Given the description of an element on the screen output the (x, y) to click on. 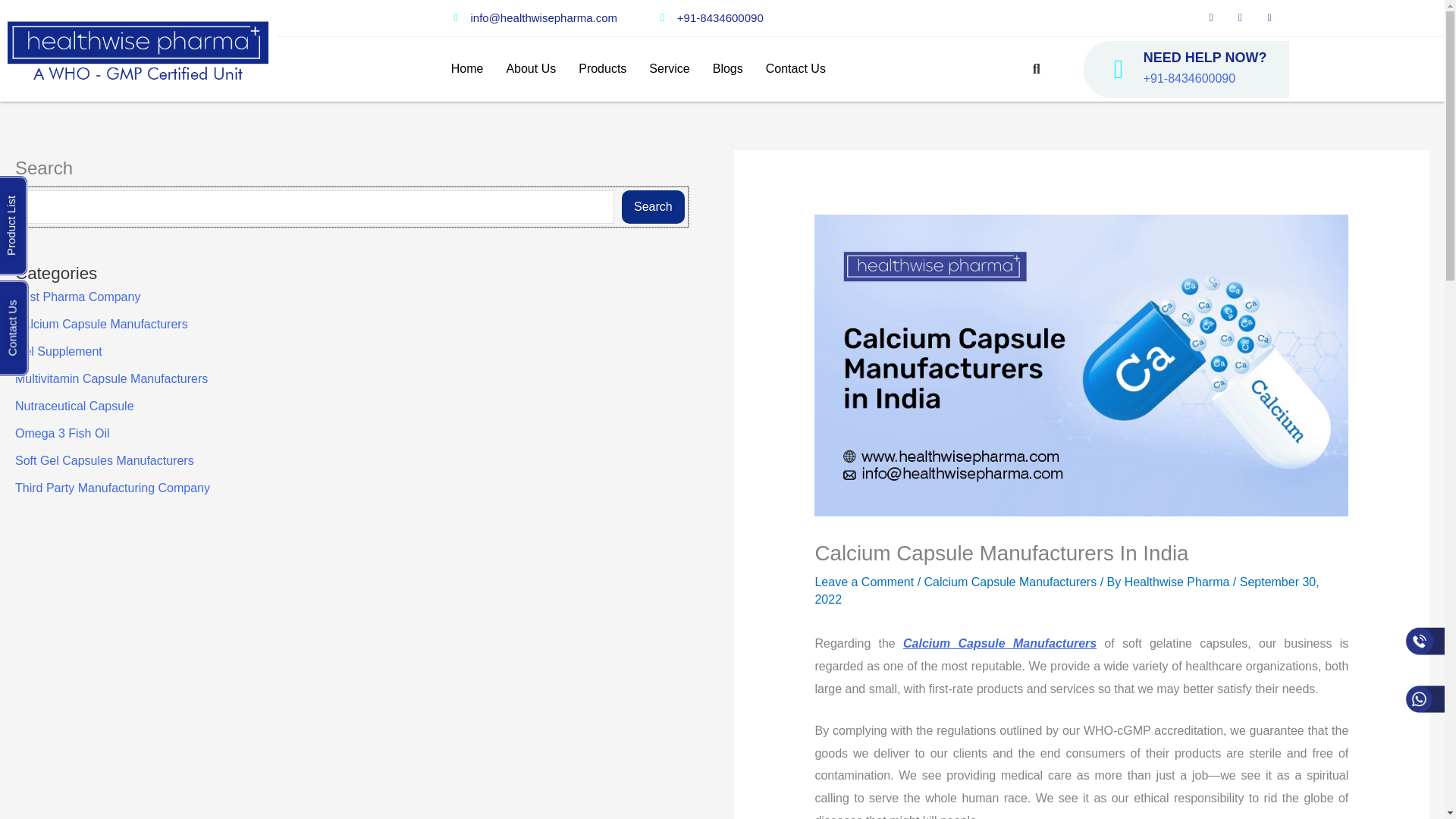
About Us (530, 68)
View all posts by Healthwise Pharma (1178, 581)
Service (668, 68)
Contact Us (795, 68)
Products (602, 68)
Home (467, 68)
